Given the description of an element on the screen output the (x, y) to click on. 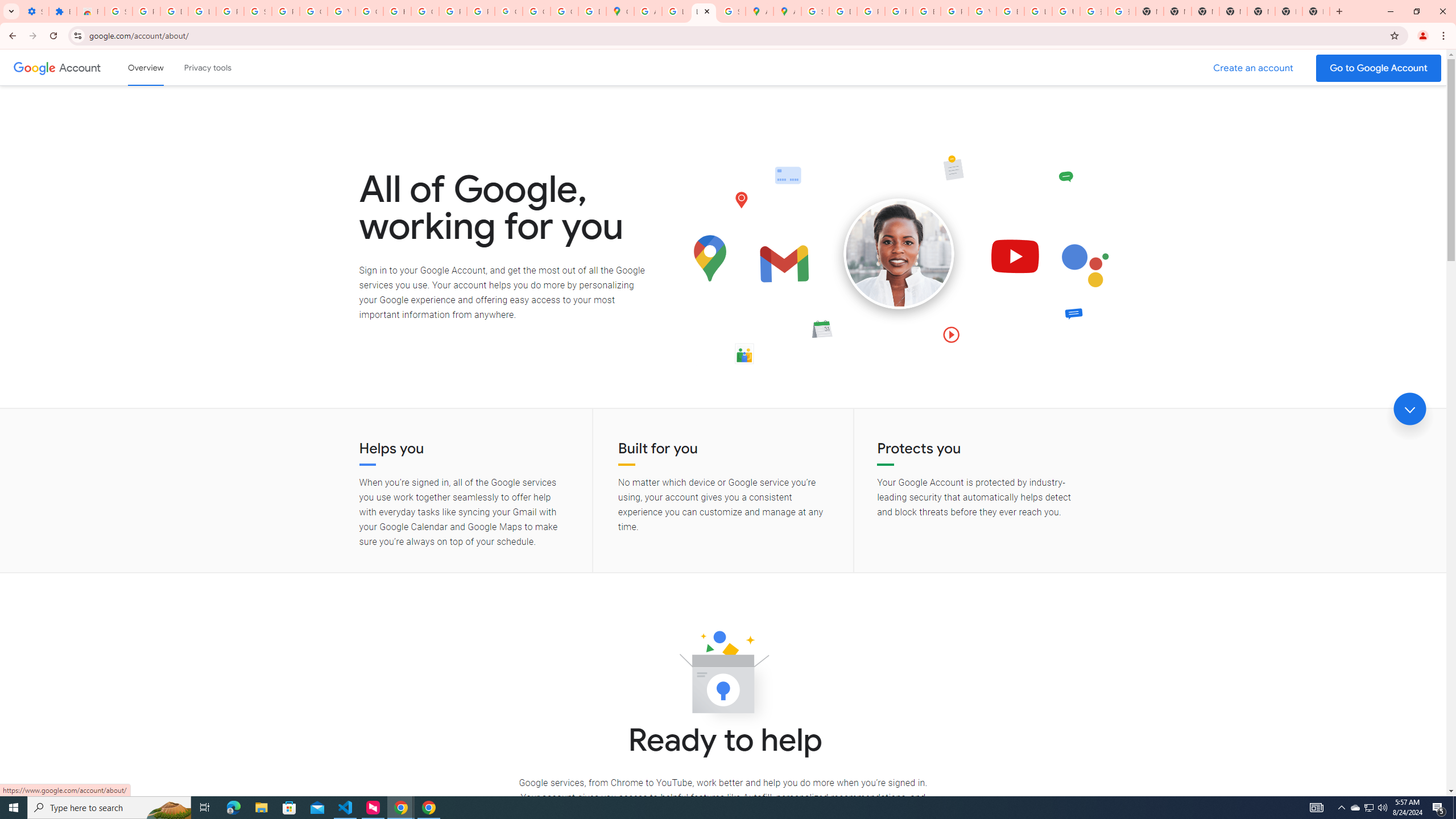
Delete photos & videos - Computer - Google Photos Help (174, 11)
YouTube (982, 11)
Sign in - Google Accounts (118, 11)
Google logo (34, 67)
New Tab (1316, 11)
Google Maps (620, 11)
Reviews: Helix Fruit Jump Arcade Game (90, 11)
https://scholar.google.com/ (397, 11)
Create a Google Account (1253, 67)
